Given the description of an element on the screen output the (x, y) to click on. 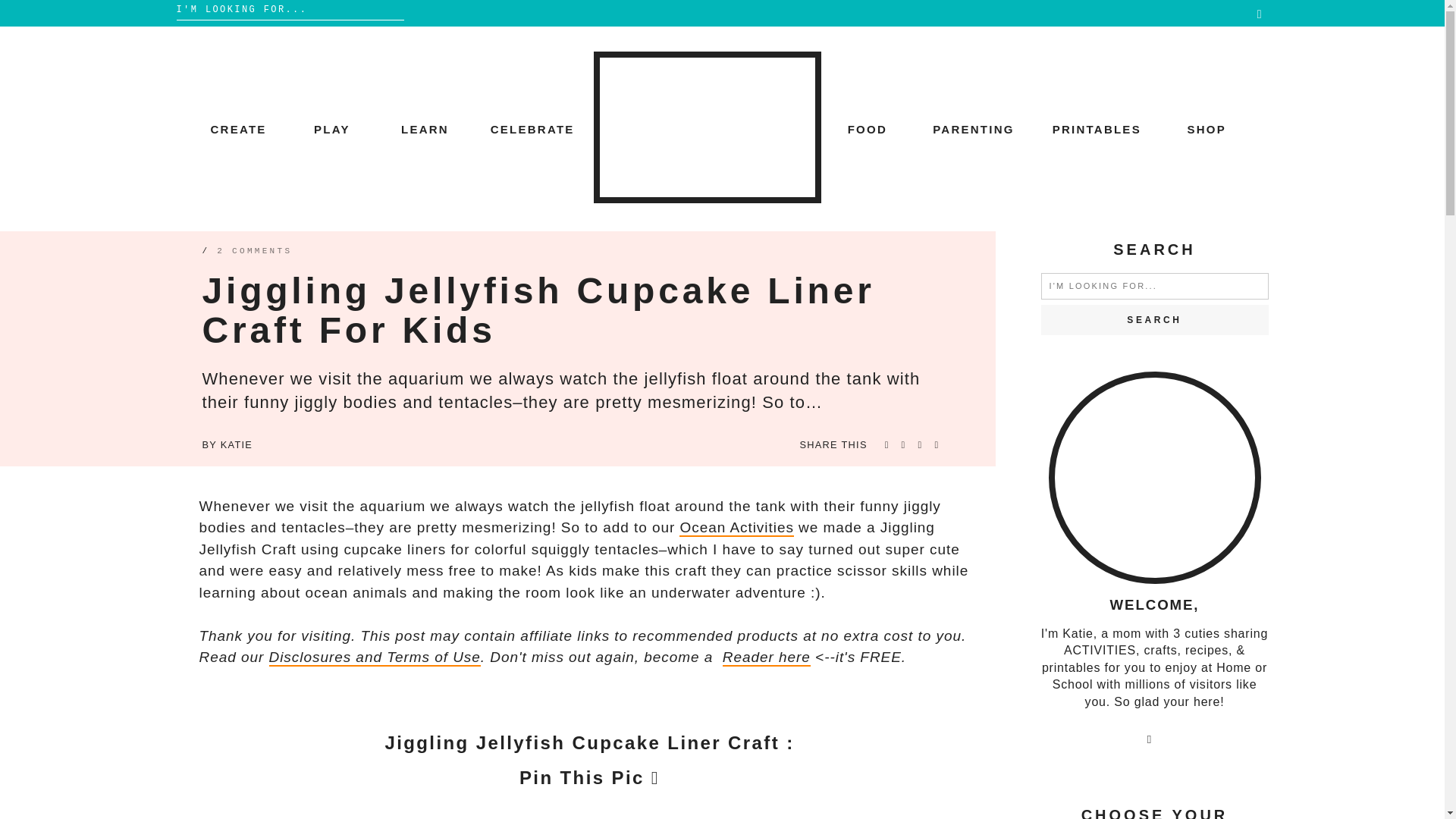
email icon (1259, 14)
Search (1154, 319)
Search (1154, 319)
email icon (1149, 741)
